Given the description of an element on the screen output the (x, y) to click on. 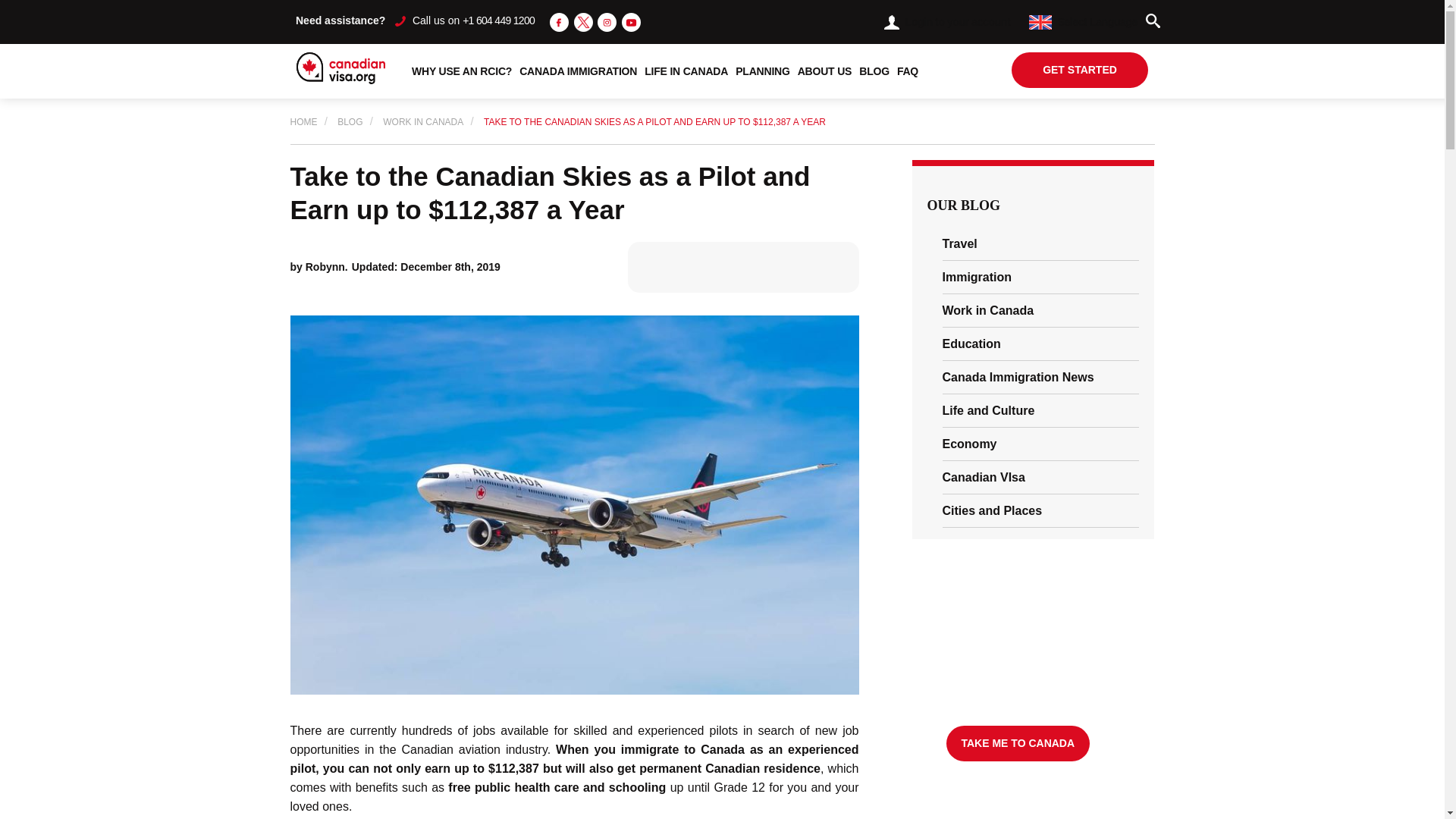
language (1040, 22)
facebook (559, 22)
Select Language (1083, 21)
instagram (605, 21)
twitter (582, 21)
facebook (559, 21)
youtube (630, 21)
youtube (630, 22)
Need assistance? (340, 20)
Need assistance? (340, 20)
instagram (605, 22)
CANADA IMMIGRATION (577, 71)
WHY USE AN RCIC? (461, 71)
phone (400, 20)
twitter (582, 22)
